Given the description of an element on the screen output the (x, y) to click on. 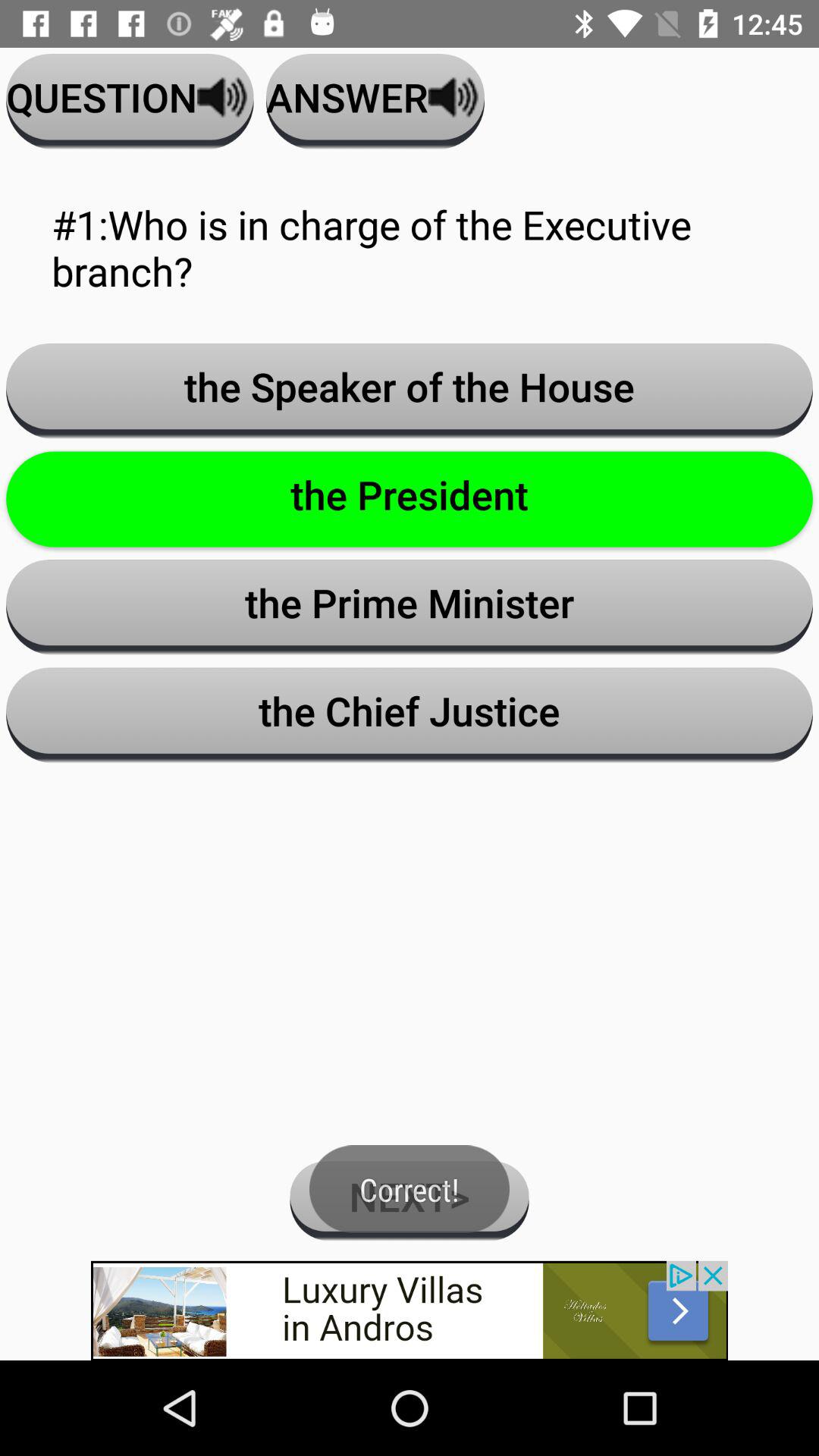
click advertisement (409, 1310)
